Given the description of an element on the screen output the (x, y) to click on. 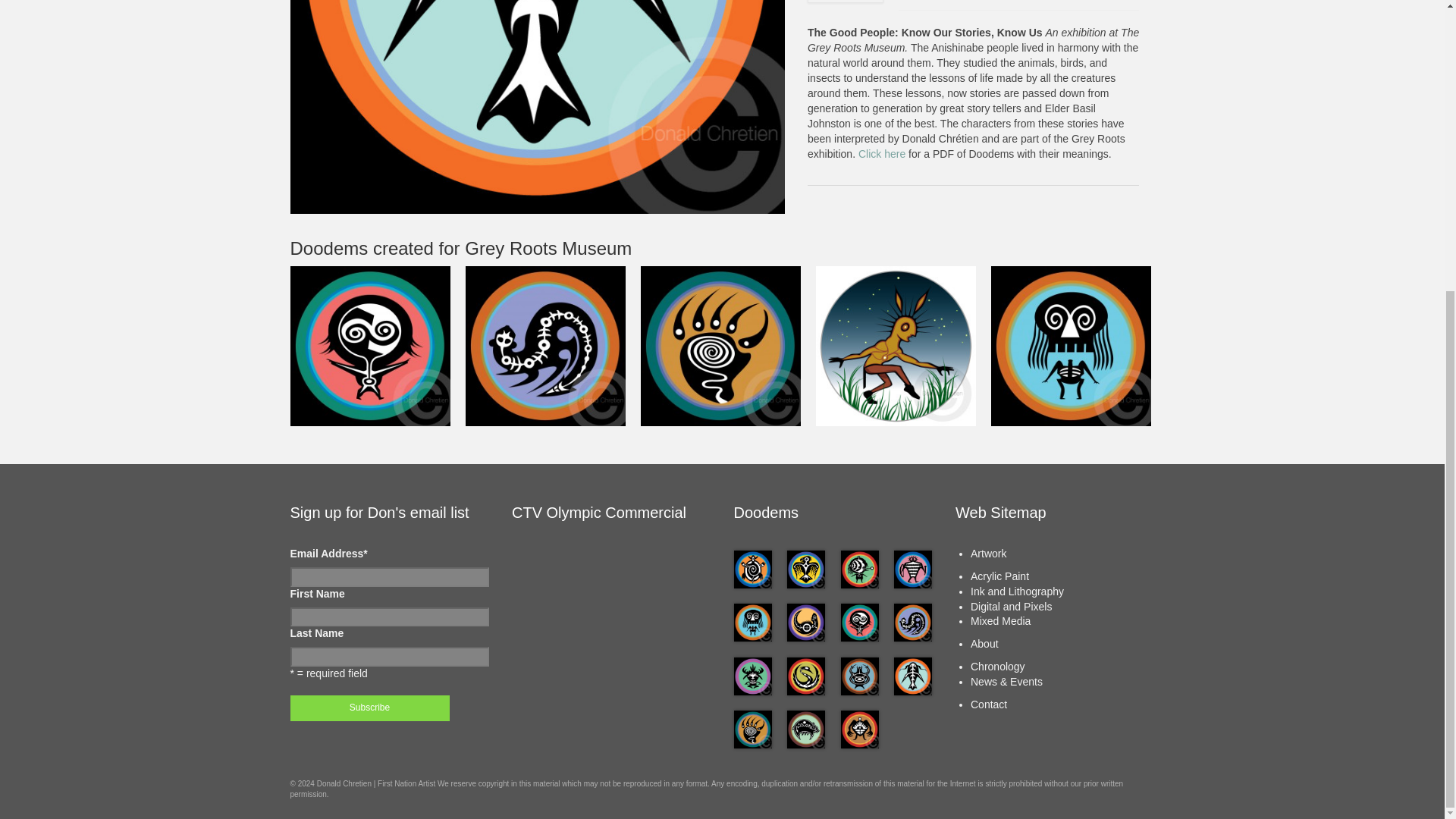
Subscribe (368, 707)
Click here (883, 153)
Click here (883, 153)
